Given the description of an element on the screen output the (x, y) to click on. 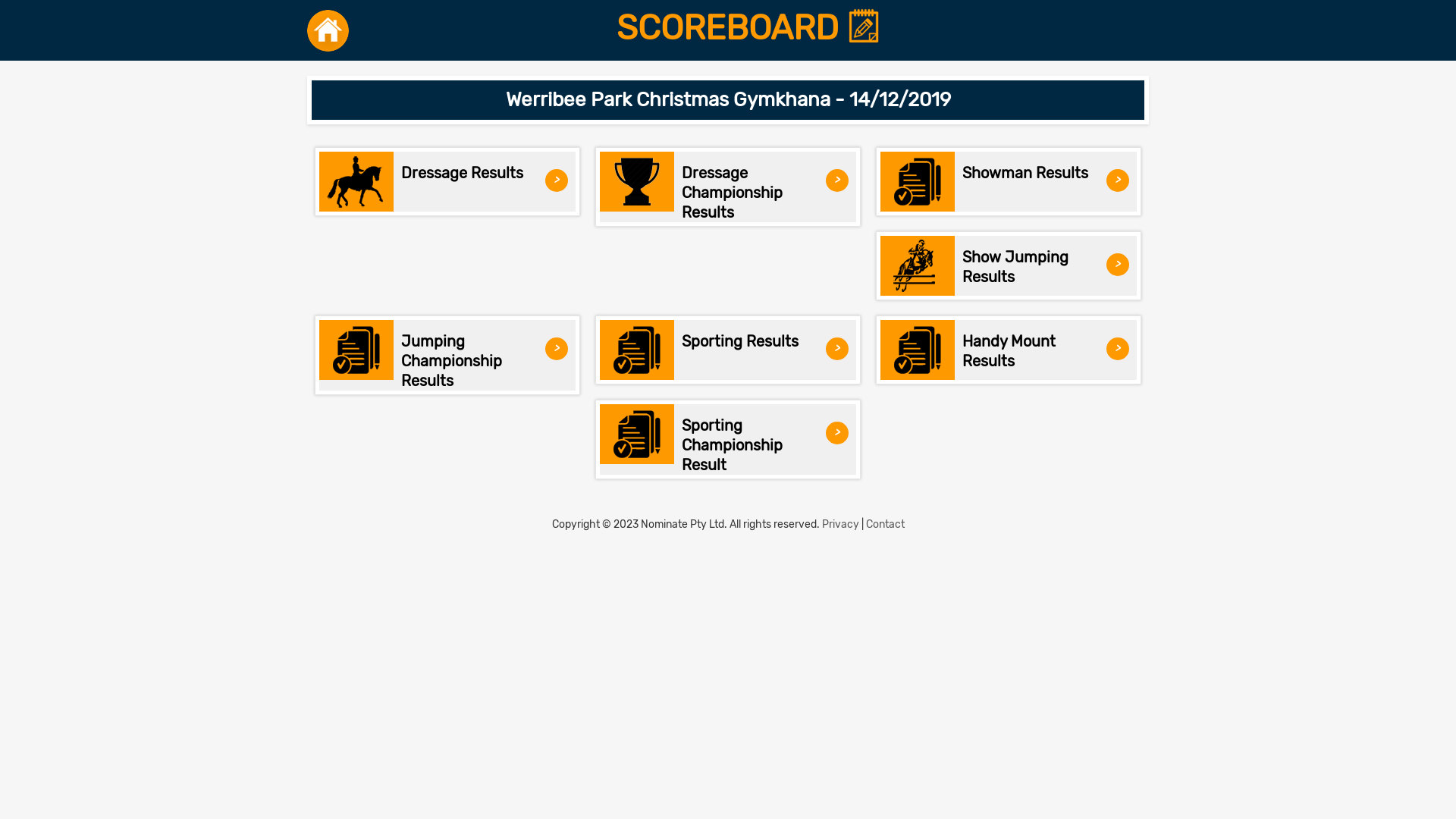
Sporting Championship Result
> Element type: text (727, 439)
Werribee Park Christmas Gymkhana - 14/12/2019 Element type: text (727, 99)
Sporting Results
> Element type: text (727, 349)
Jumping Championship Results
> Element type: text (447, 355)
Back to Home Element type: hover (327, 30)
Dressage Championship Results
> Element type: text (727, 186)
Contact Element type: text (885, 523)
Show Jumping Results
> Element type: text (1008, 265)
SCOREBOARD Element type: text (748, 28)
Privacy Element type: text (840, 523)
Dressage Results
> Element type: text (447, 181)
Handy Mount Results
> Element type: text (1008, 349)
Showman Results
> Element type: text (1008, 181)
